Given the description of an element on the screen output the (x, y) to click on. 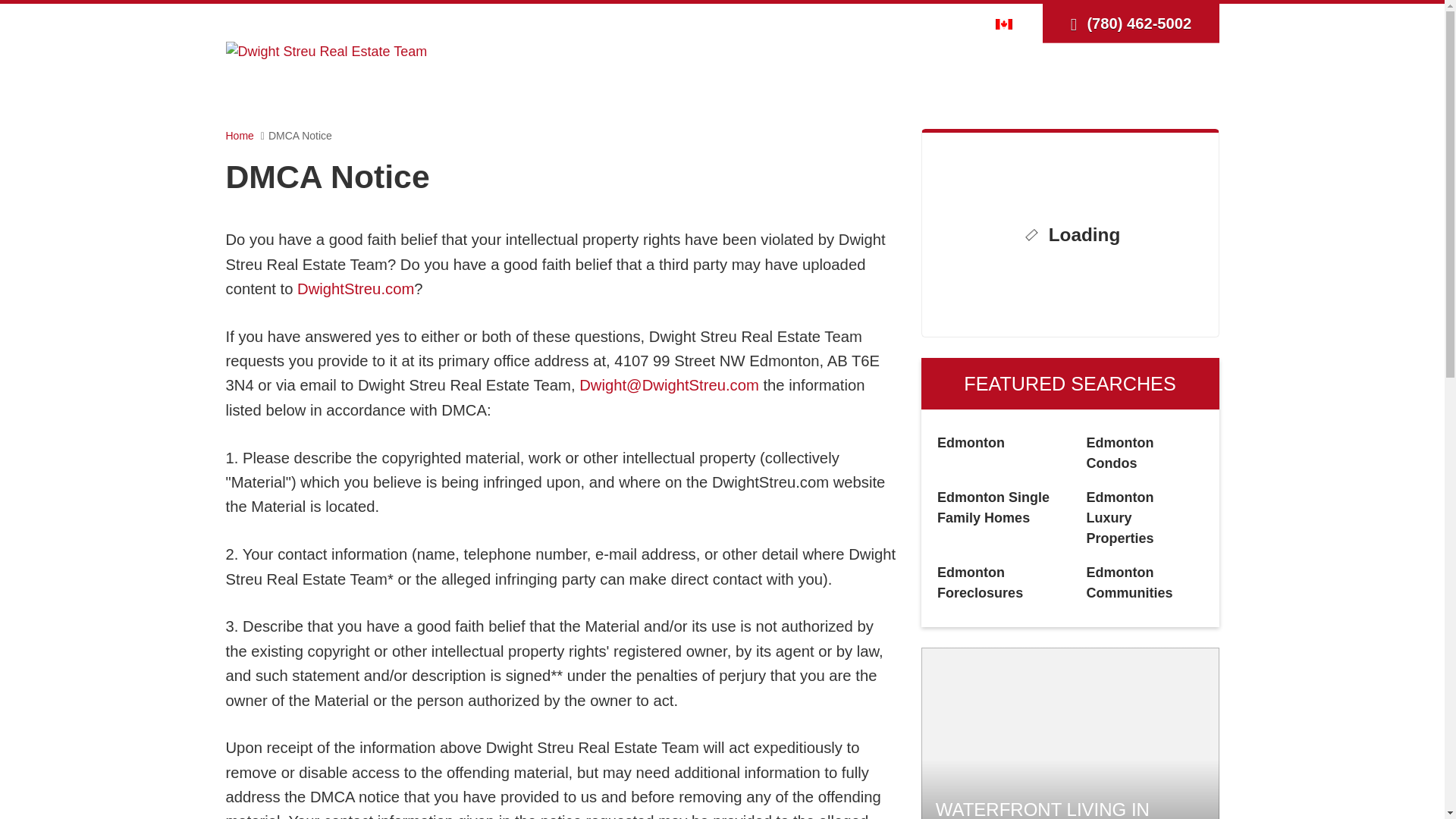
Login (872, 23)
Home Page (326, 50)
Register (920, 23)
Select Language (1008, 23)
